Given the description of an element on the screen output the (x, y) to click on. 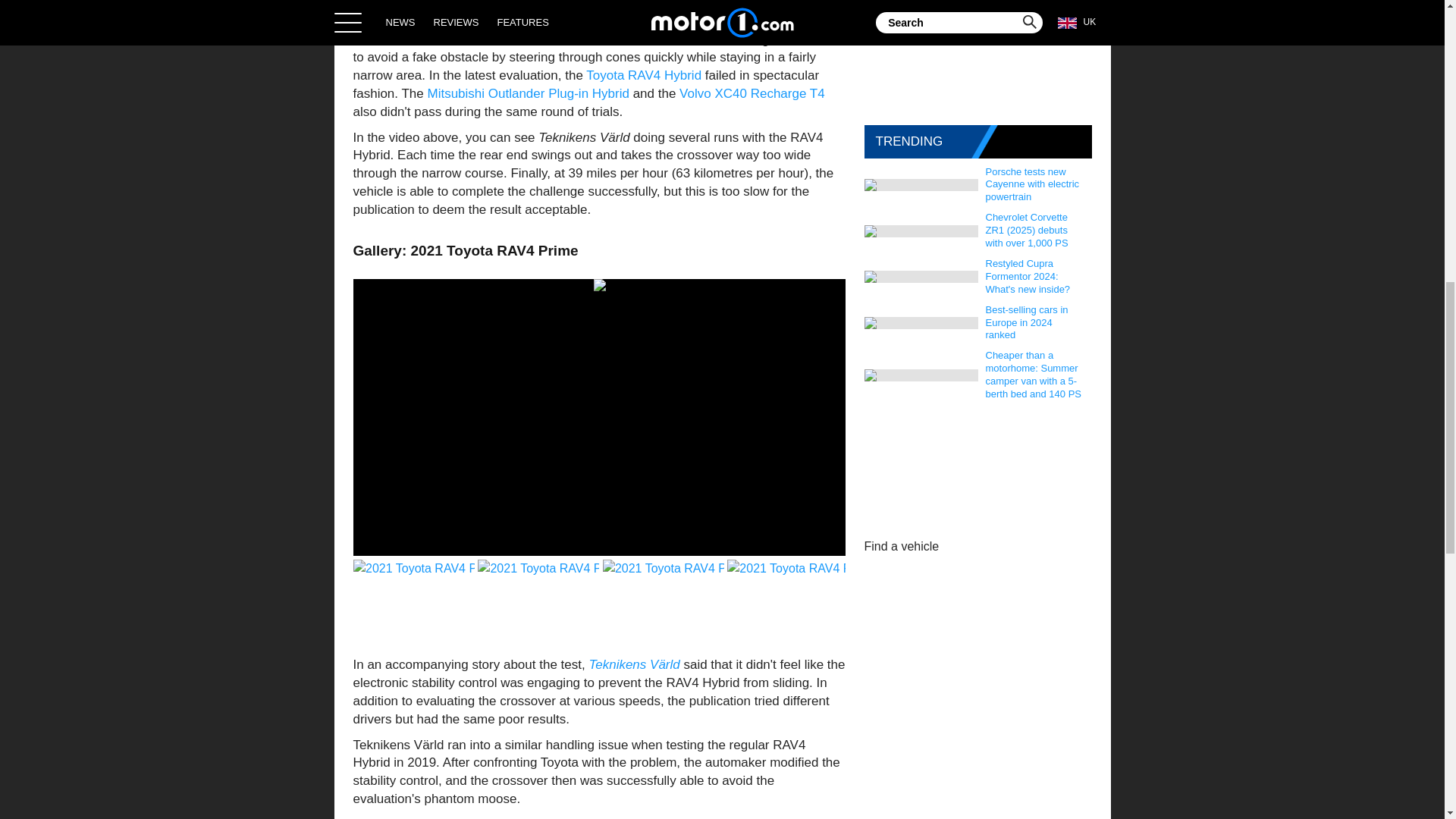
Volvo XC40 Recharge T4 (752, 93)
Toyota RAV4 Hybrid (643, 74)
Mitsubishi Outlander Plug-in Hybrid (527, 93)
Chris Bruce (532, 1)
